Given the description of an element on the screen output the (x, y) to click on. 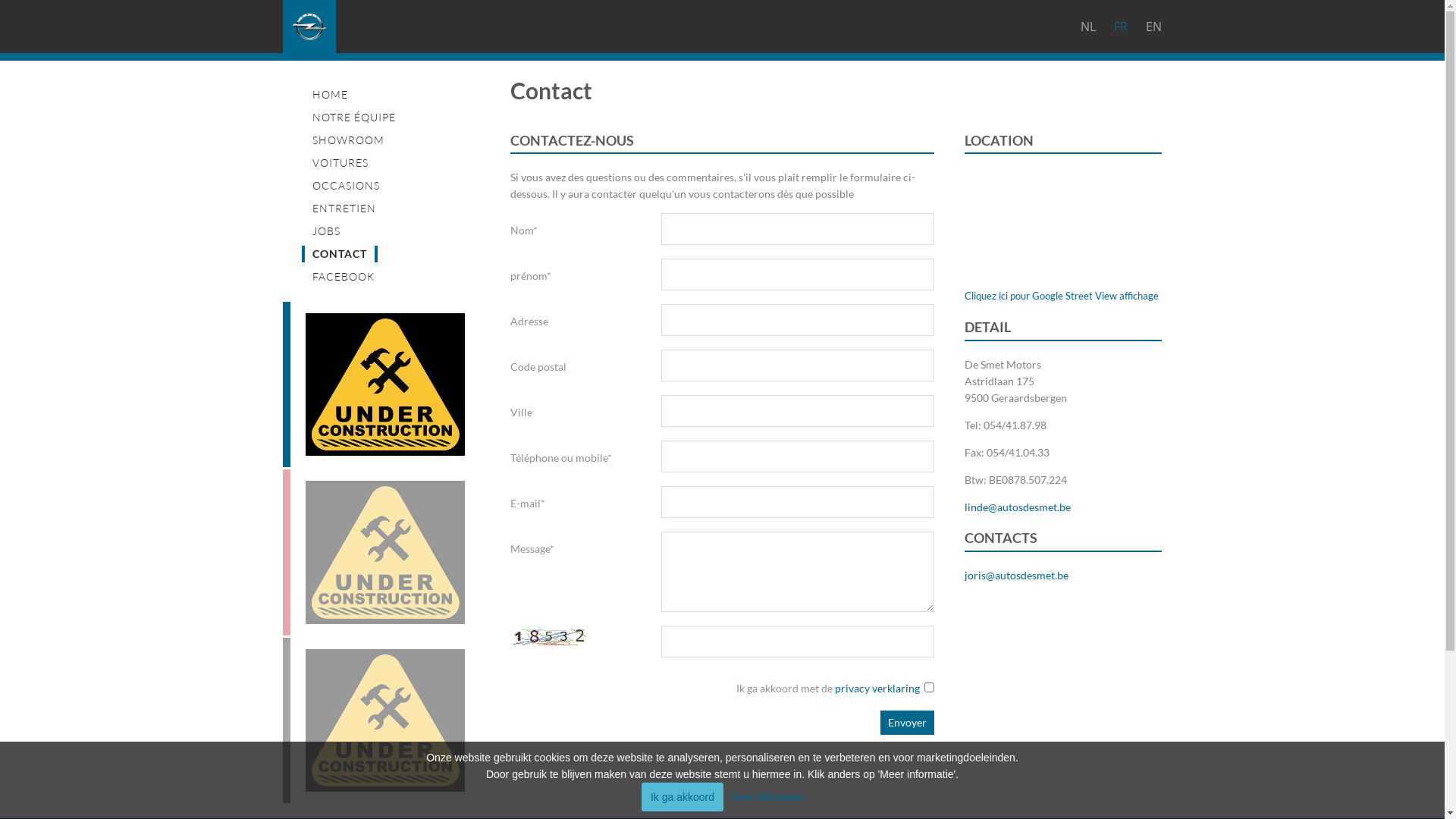
linde@autosdesmet.be Element type: text (1017, 506)
HOME Element type: text (329, 94)
privacy verklaring Element type: text (876, 687)
ENTRETIEN Element type: text (343, 207)
Meer informatie Element type: text (766, 796)
GD&J Motors Element type: hover (380, 720)
Geraard Motor Element type: hover (380, 551)
FACEBOOK Element type: text (343, 276)
NL Element type: text (1088, 26)
Envoyer Element type: text (907, 722)
De Smet Motors Element type: hover (380, 384)
FR Element type: text (1120, 26)
EN Element type: text (1149, 26)
JOBS Element type: text (326, 230)
VOITURES Element type: text (340, 162)
OCCASIONS Element type: text (345, 185)
SHOWROOM Element type: text (348, 139)
Cliquez ici pour Google Street View affichage Element type: text (1061, 295)
Ik ga akkoord Element type: text (682, 796)
CONTACT Element type: text (339, 253)
joris@autosdesmet.be Element type: text (1016, 574)
